Given the description of an element on the screen output the (x, y) to click on. 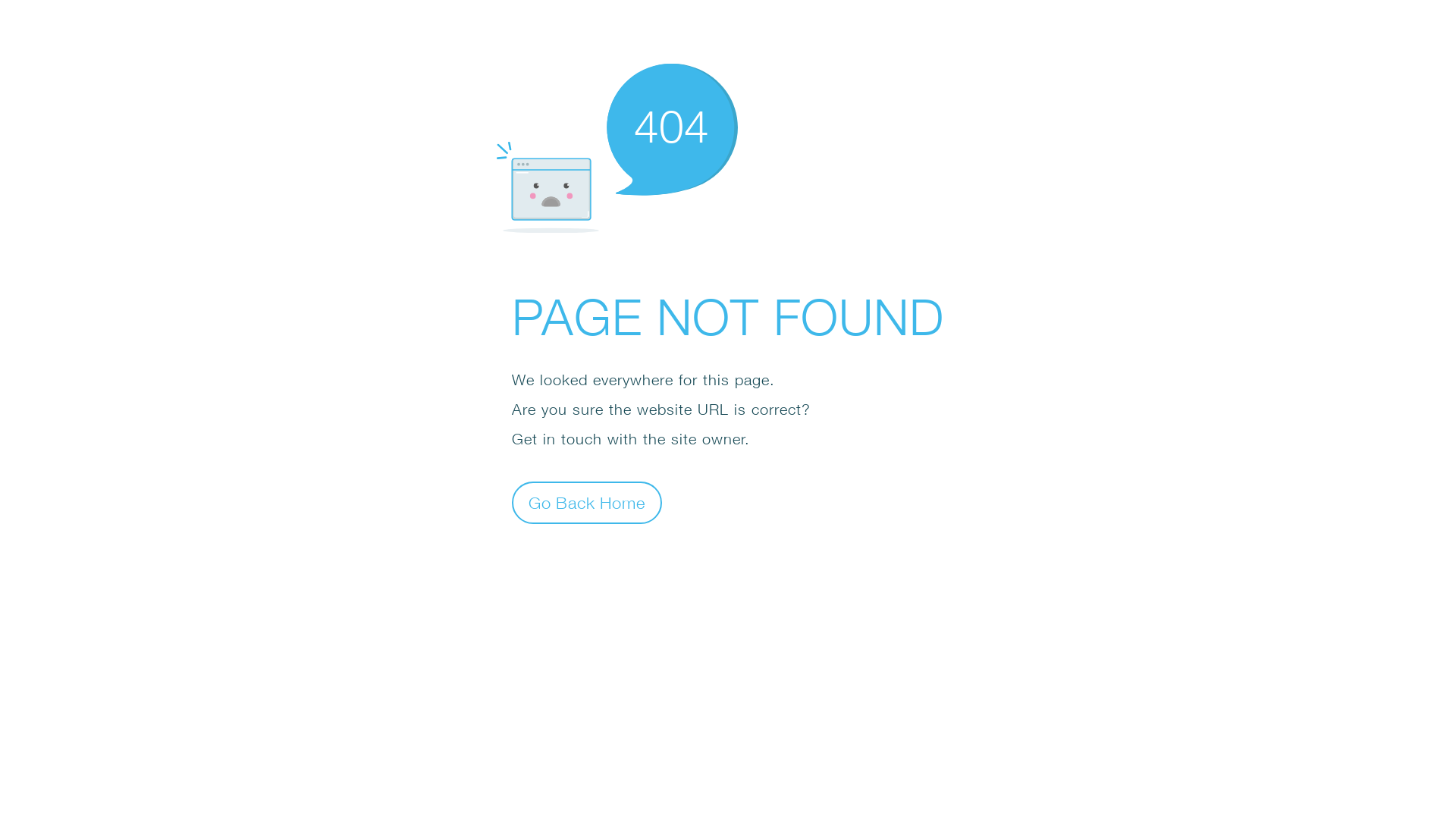
Go Back Home Element type: text (586, 502)
